Given the description of an element on the screen output the (x, y) to click on. 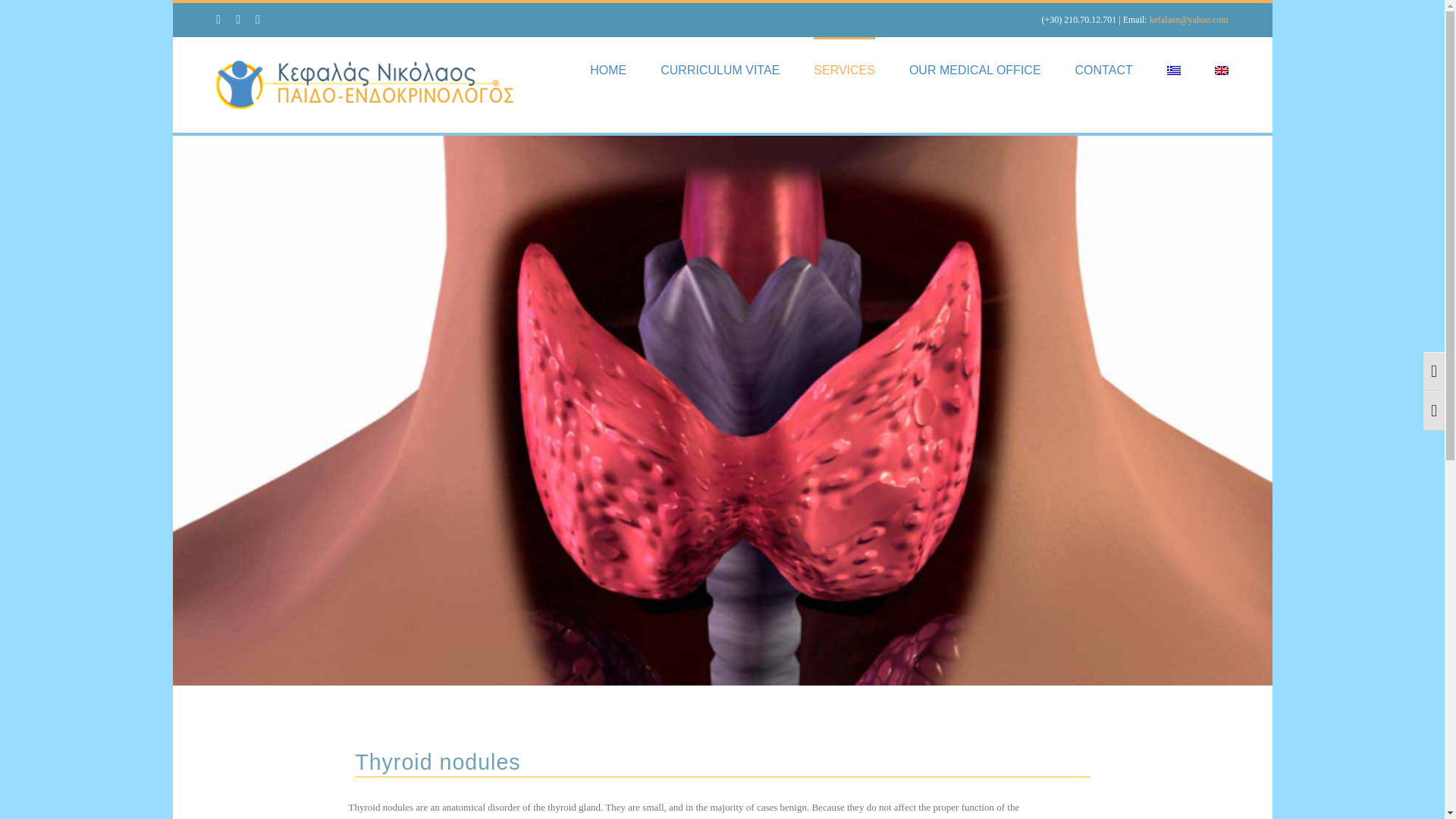
English (1221, 69)
CURRICULUM VITAE (719, 68)
SERVICES (844, 68)
